Given the description of an element on the screen output the (x, y) to click on. 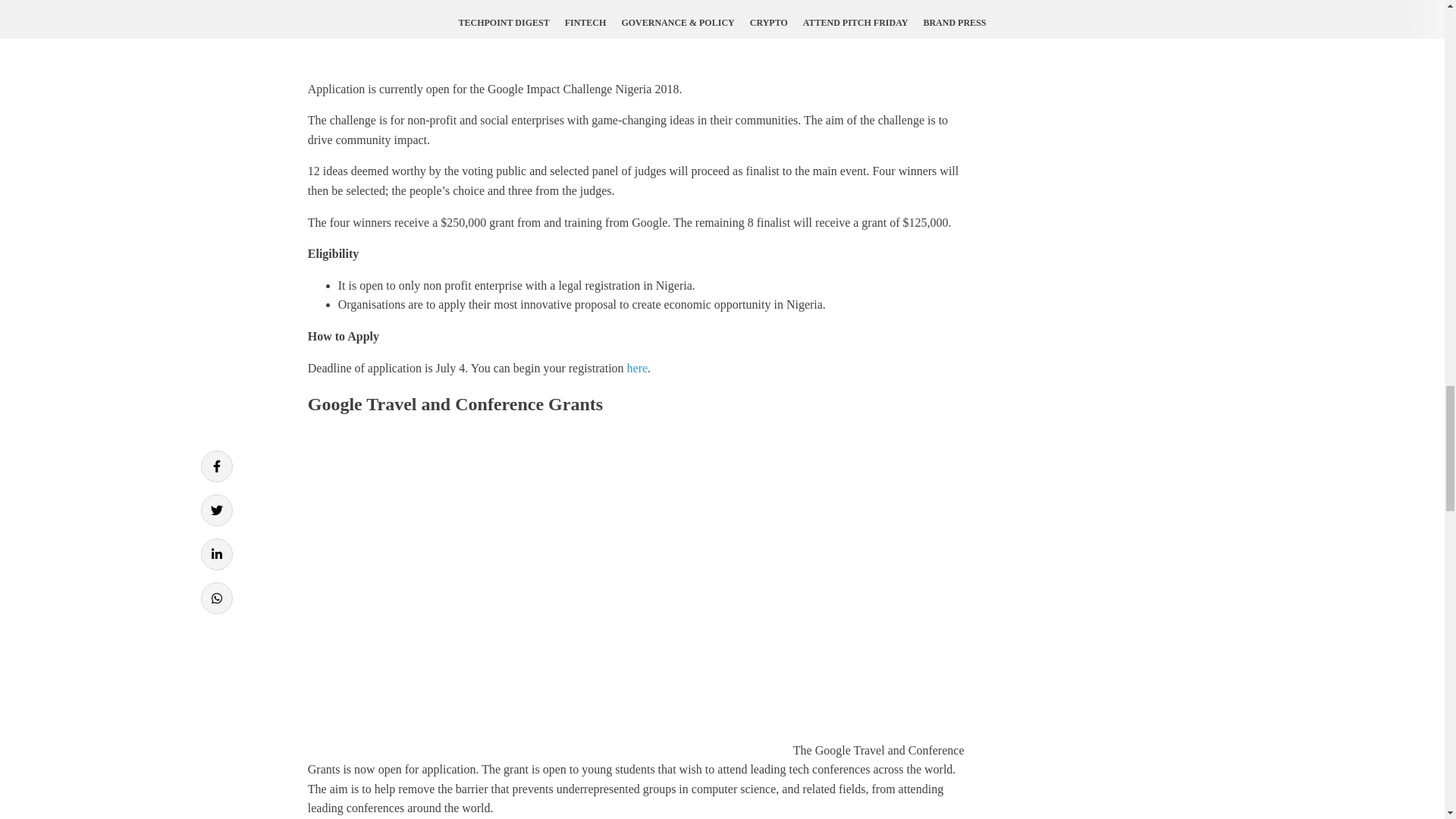
here (637, 367)
